Given the description of an element on the screen output the (x, y) to click on. 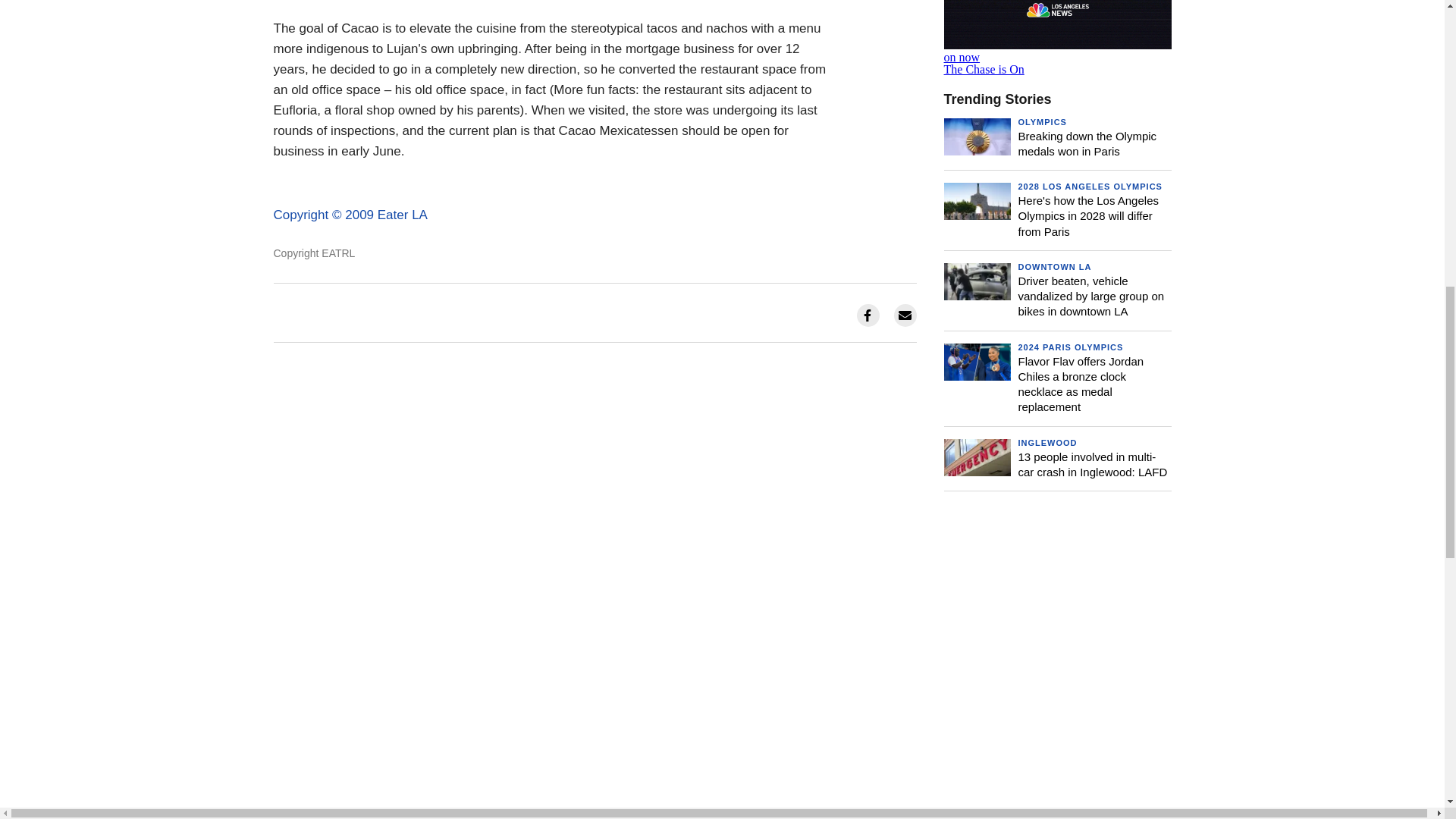
Breaking down the Olympic medals won in Paris (1086, 143)
DOWNTOWN LA (1053, 266)
2028 LOS ANGELES OLYMPICS (1089, 185)
OLYMPICS (1041, 121)
3rd party ad content (1056, 628)
